Given the description of an element on the screen output the (x, y) to click on. 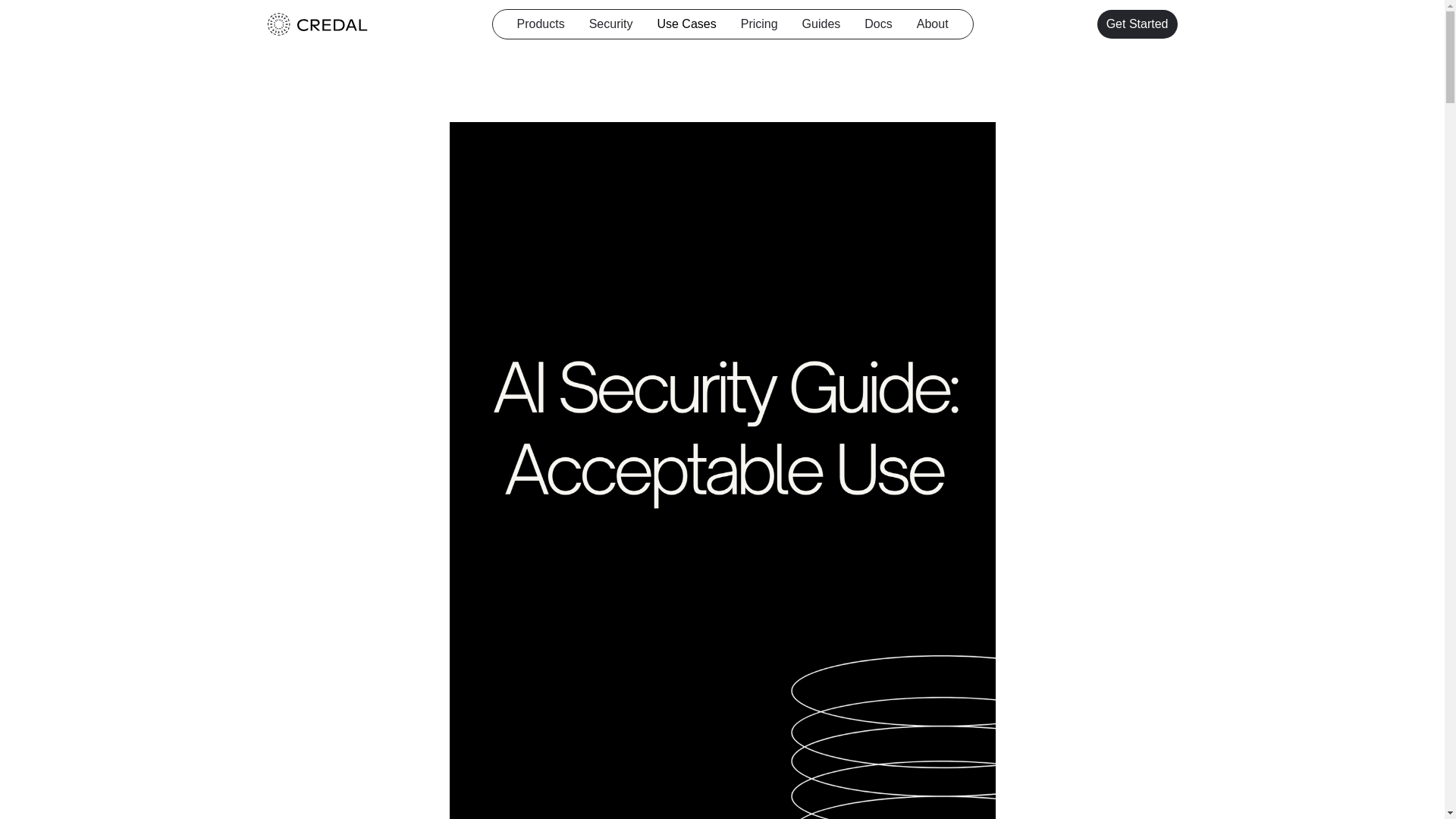
Use Cases (686, 23)
Guides (821, 23)
Pricing (759, 23)
Get Started (1137, 23)
Security (611, 23)
Docs (877, 23)
